Given the description of an element on the screen output the (x, y) to click on. 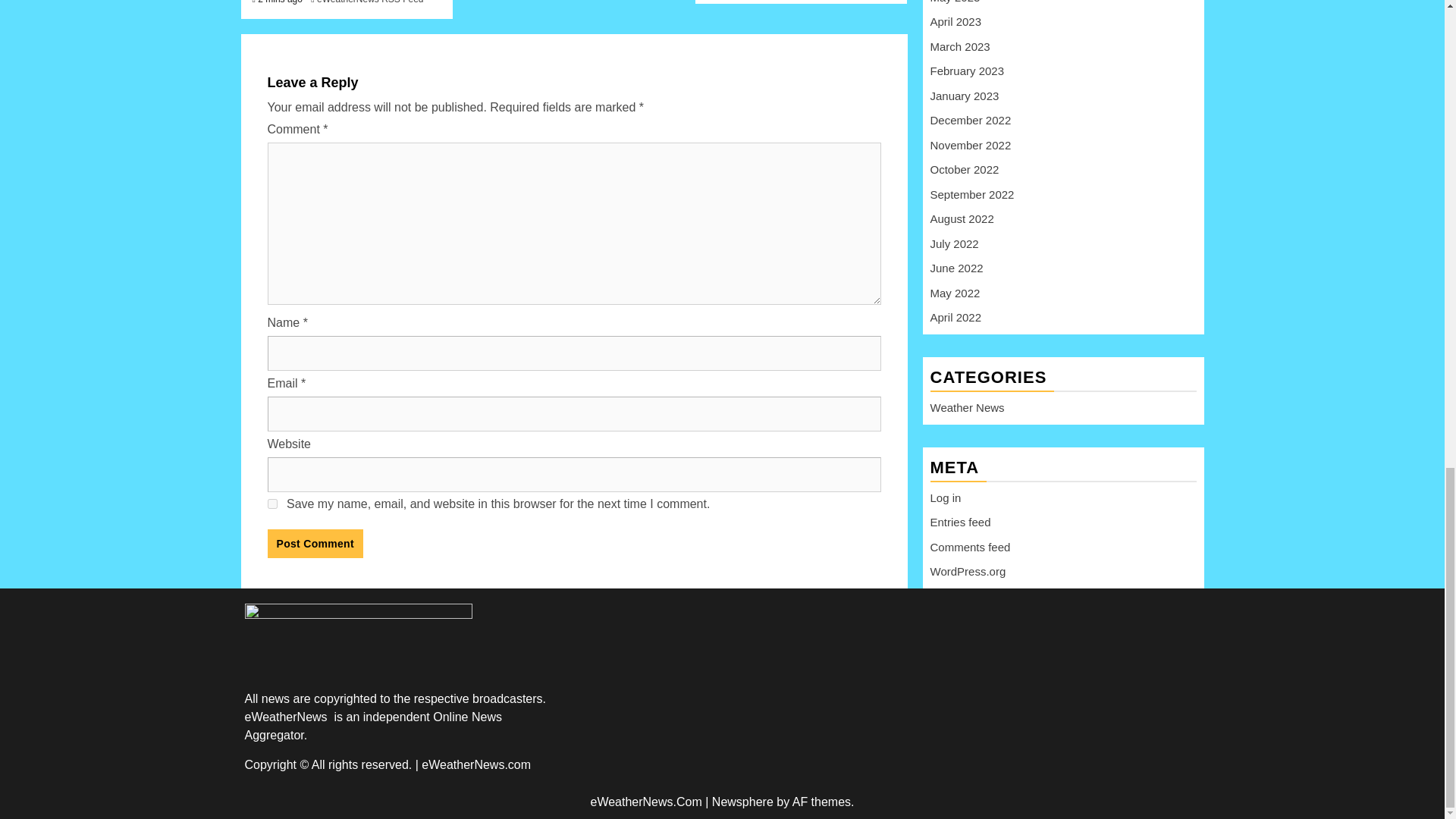
yes (271, 503)
eWeatherNews RSS Feed (370, 2)
Post Comment (314, 543)
Post Comment (314, 543)
